Given the description of an element on the screen output the (x, y) to click on. 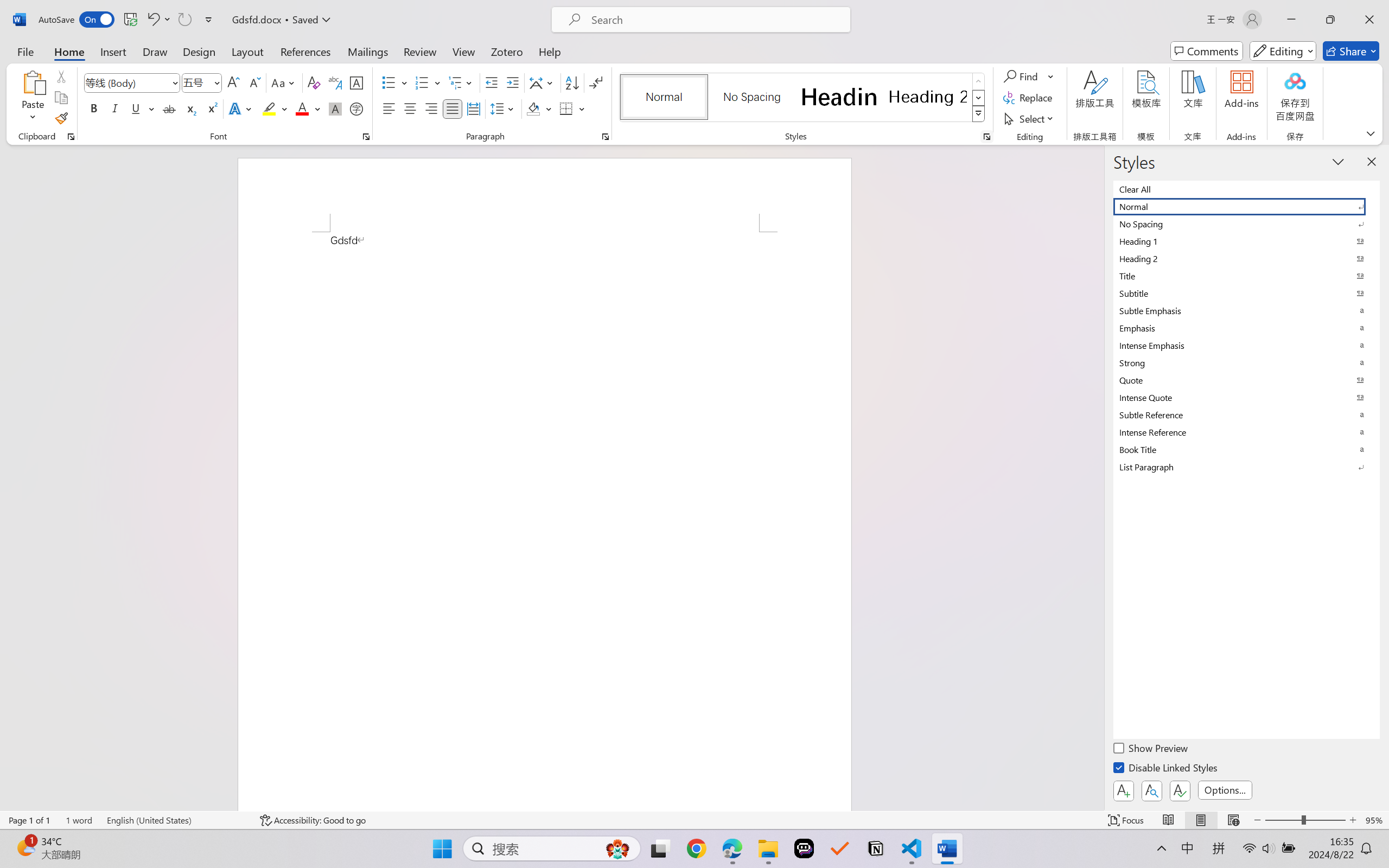
Increase Indent (512, 82)
Subtitle (1246, 293)
Office Clipboard... (70, 136)
No Spacing (1246, 223)
Grow Font (233, 82)
Clear All (1246, 188)
Italic (115, 108)
